Given the description of an element on the screen output the (x, y) to click on. 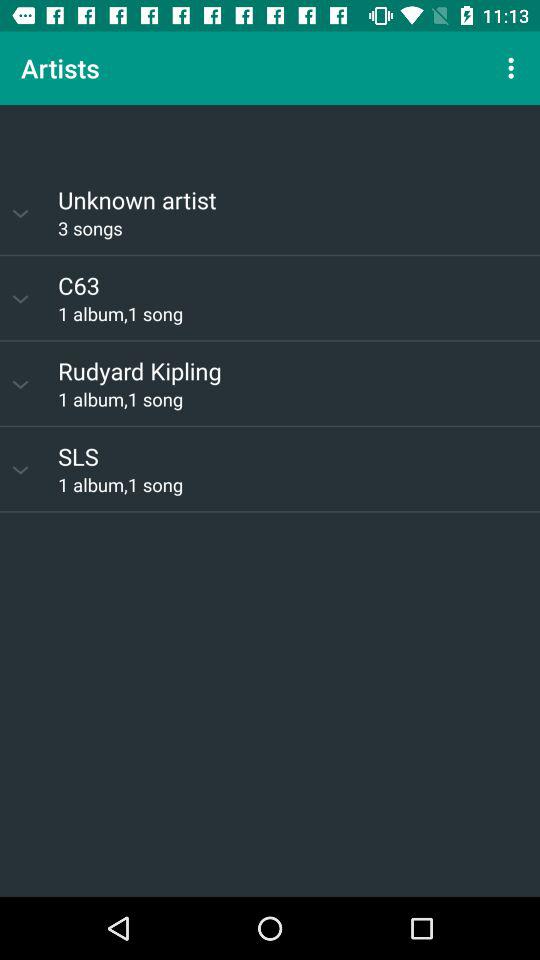
tap the app above the unknown artist (270, 137)
